Given the description of an element on the screen output the (x, y) to click on. 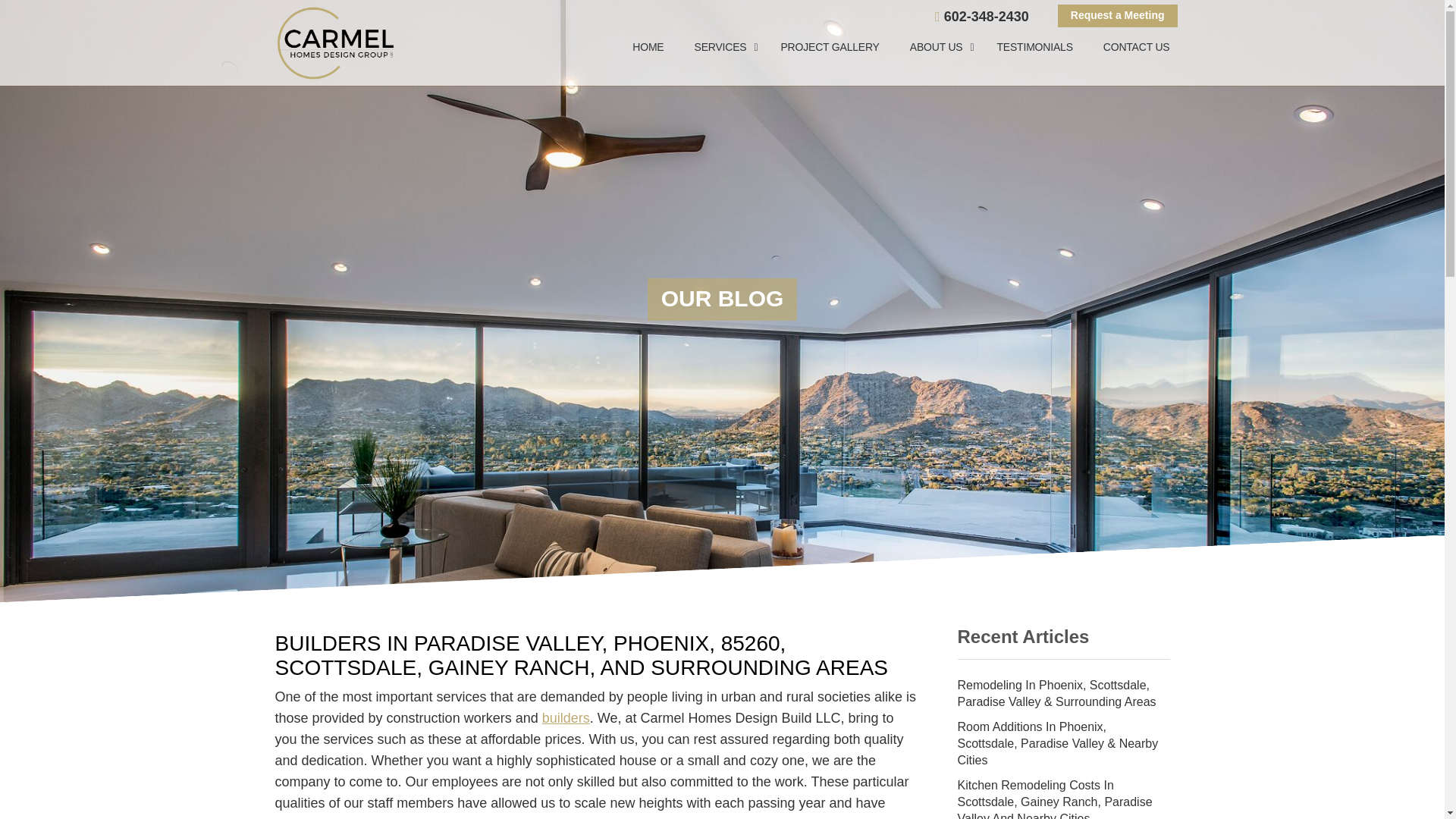
CONTACT US (1128, 46)
602-348-2430 (981, 16)
SERVICES (722, 46)
HOME (647, 46)
Request a Meeting (1117, 15)
builders (565, 717)
ABOUT US (938, 46)
PROJECT GALLERY (829, 46)
TESTIMONIALS (1034, 46)
